Given the description of an element on the screen output the (x, y) to click on. 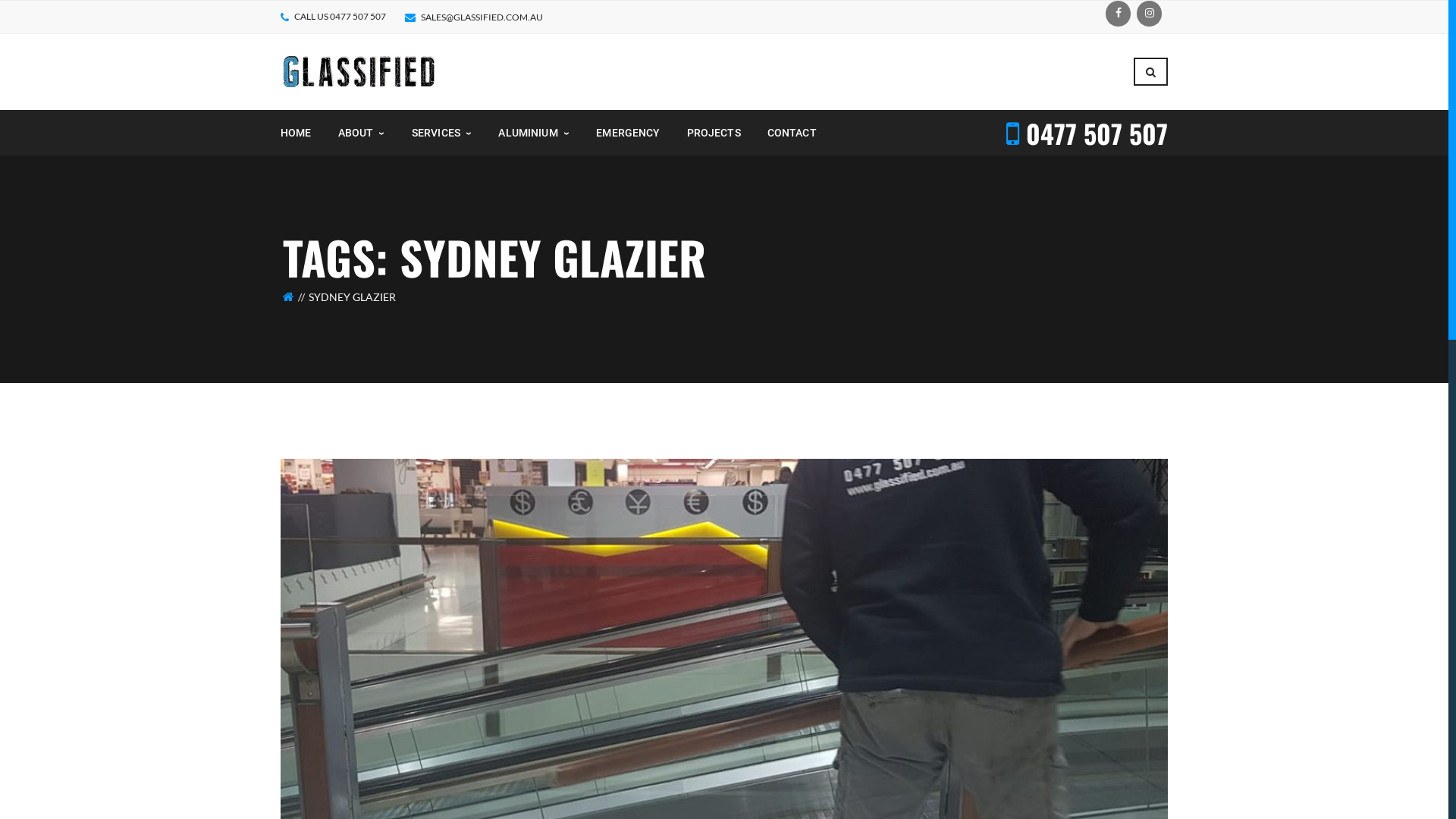
CONTACT Element type: text (791, 132)
SALES@GLASSIFIED.COM.AU Element type: text (481, 16)
HOME Element type: text (295, 132)
Instagram Element type: hover (1148, 13)
ALUMINIUM Element type: text (533, 132)
Facebook Element type: hover (1117, 13)
PROJECTS Element type: text (713, 132)
EMERGENCY Element type: text (627, 132)
Glassified Pty Ltd - Glass Repair Sydney Element type: hover (358, 70)
ABOUT Element type: text (361, 132)
SERVICES Element type: text (441, 132)
